Given the description of an element on the screen output the (x, y) to click on. 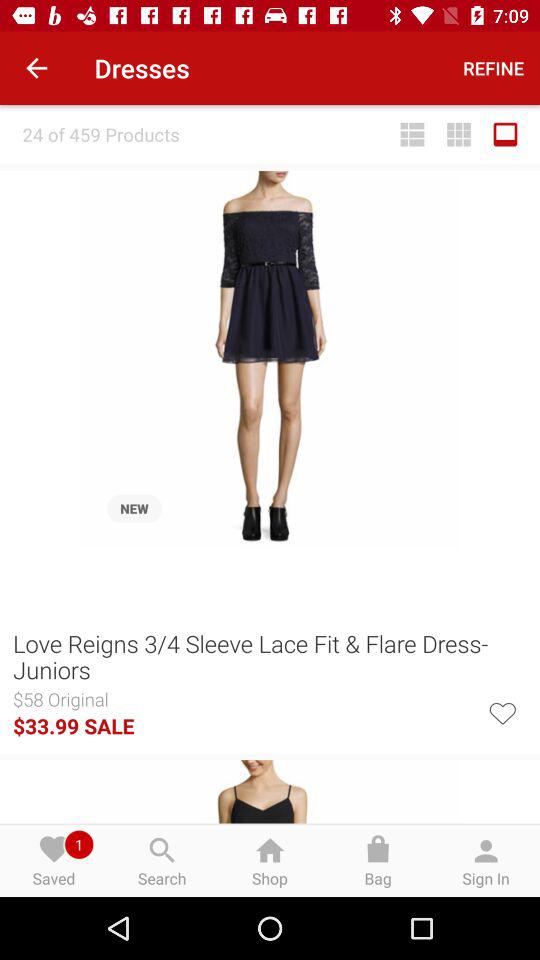
favorite it (501, 711)
